Given the description of an element on the screen output the (x, y) to click on. 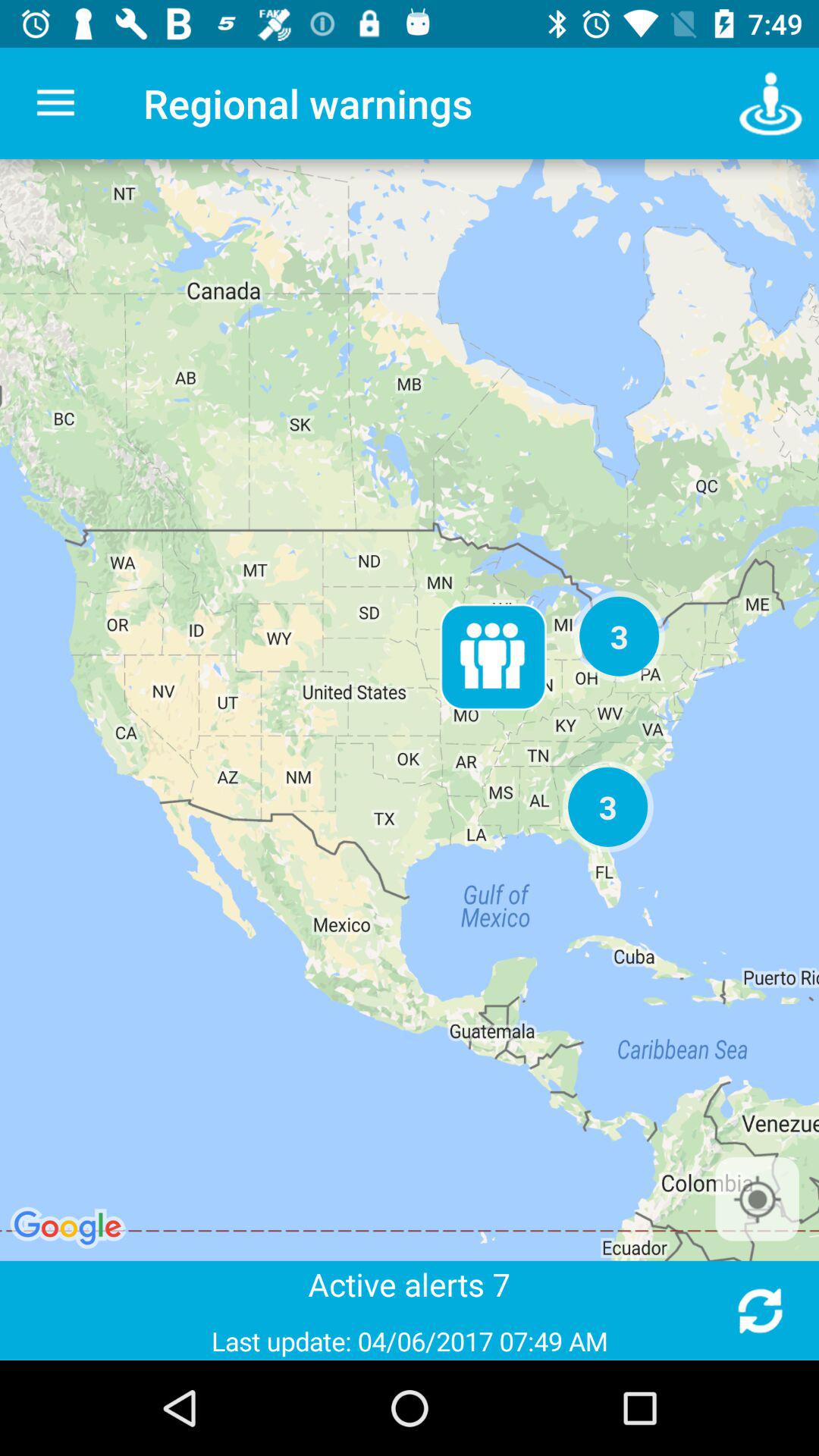
refresh alerts (760, 1310)
